Given the description of an element on the screen output the (x, y) to click on. 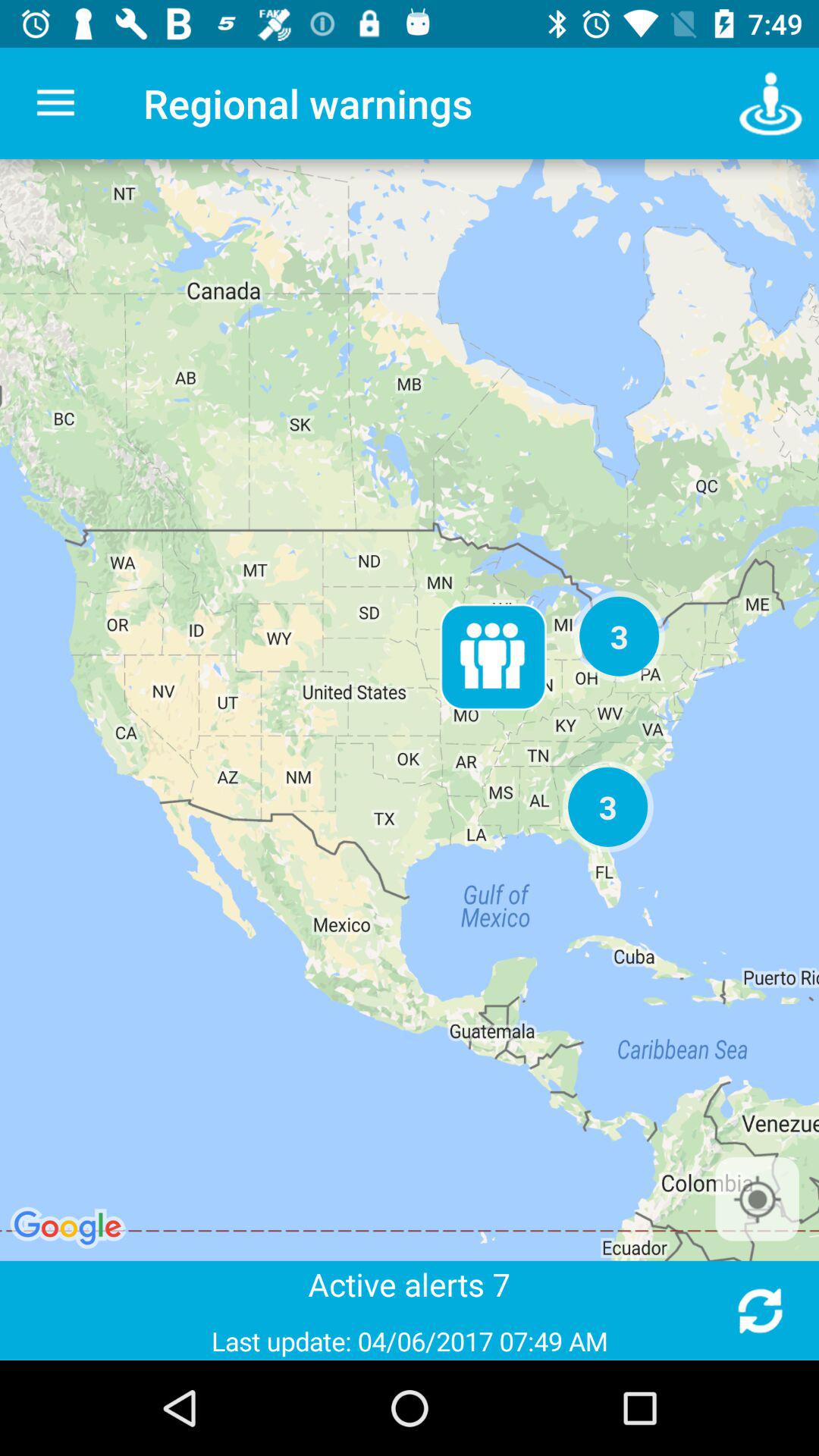
refresh alerts (760, 1310)
